Given the description of an element on the screen output the (x, y) to click on. 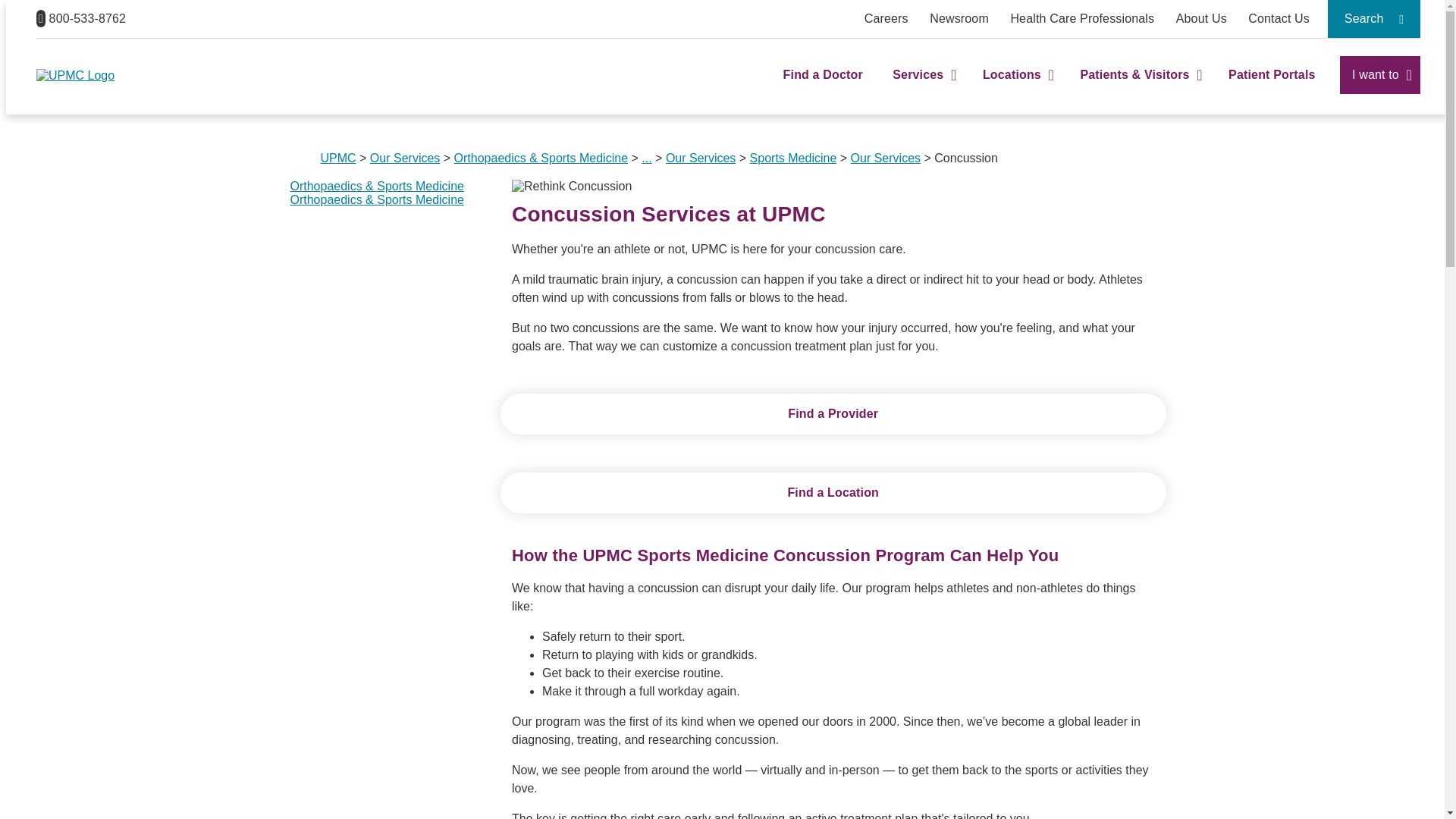
Services (922, 88)
UPMC (75, 74)
Learn more about careers and job openings at UPMC. (886, 18)
800-533-8762 (80, 18)
Search (1374, 18)
Contact Us (1277, 18)
Newsroom (959, 18)
About Us (1201, 18)
Careers (886, 18)
Health Care Professionals (1082, 18)
